Given the description of an element on the screen output the (x, y) to click on. 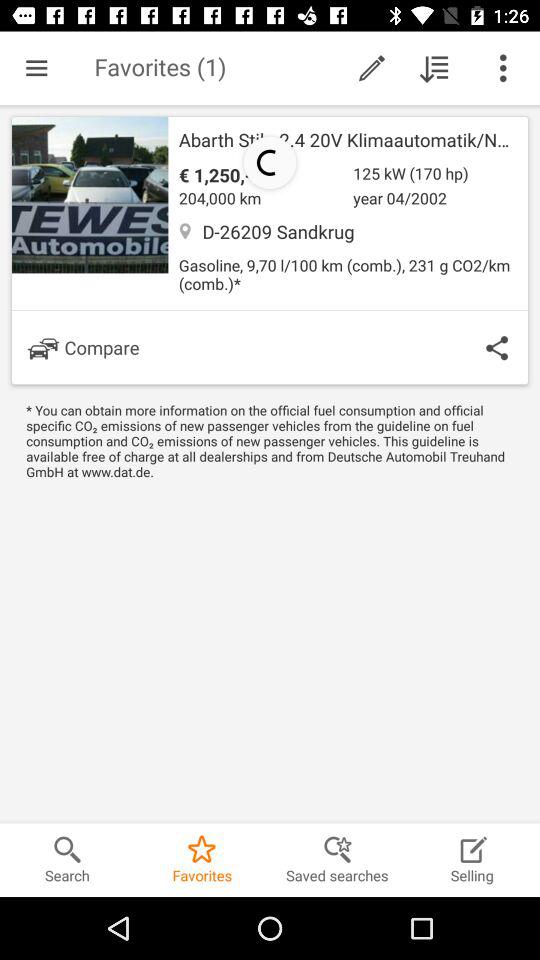
to sort the search (434, 67)
